Given the description of an element on the screen output the (x, y) to click on. 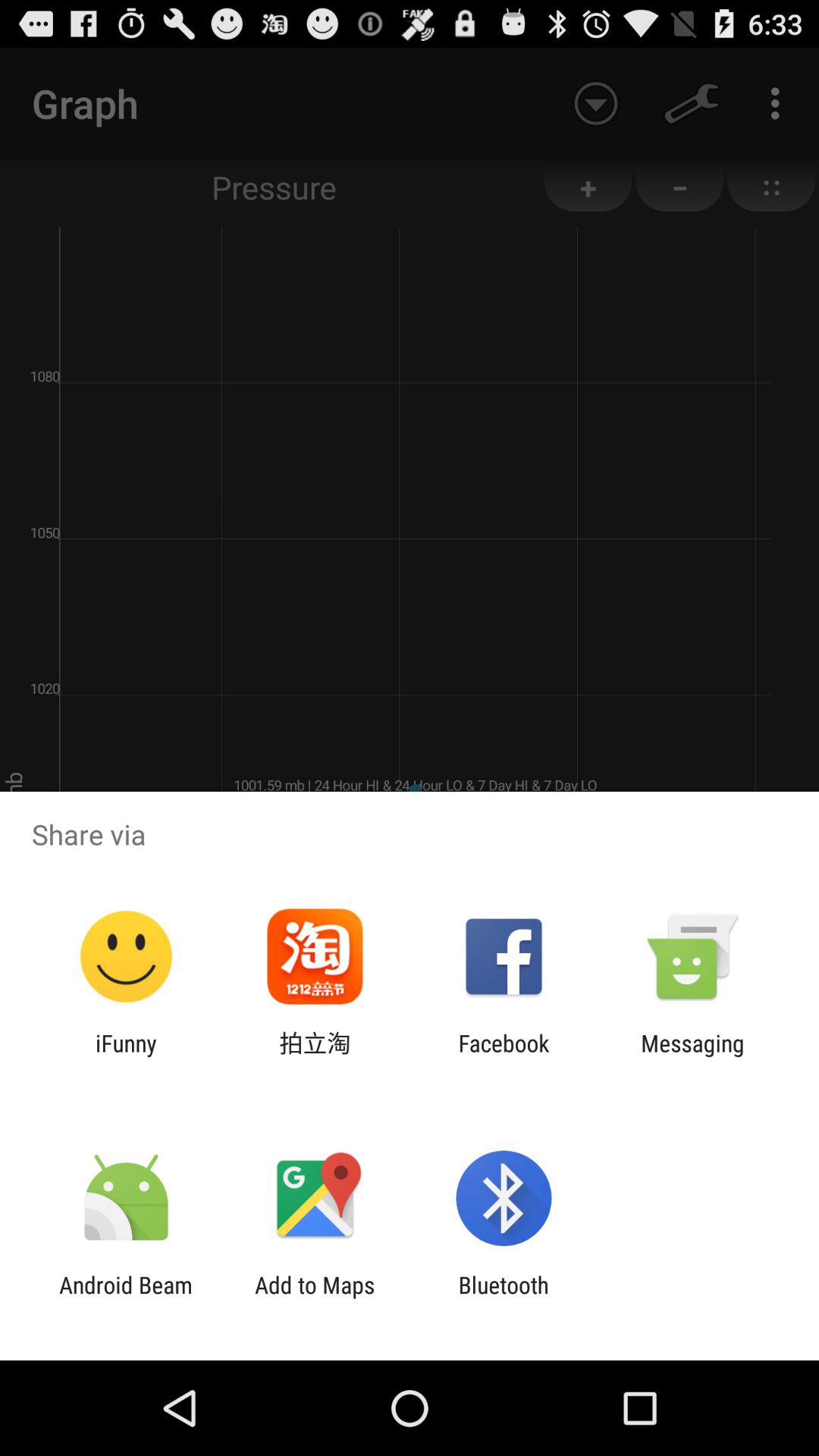
swipe to ifunny app (125, 1056)
